Given the description of an element on the screen output the (x, y) to click on. 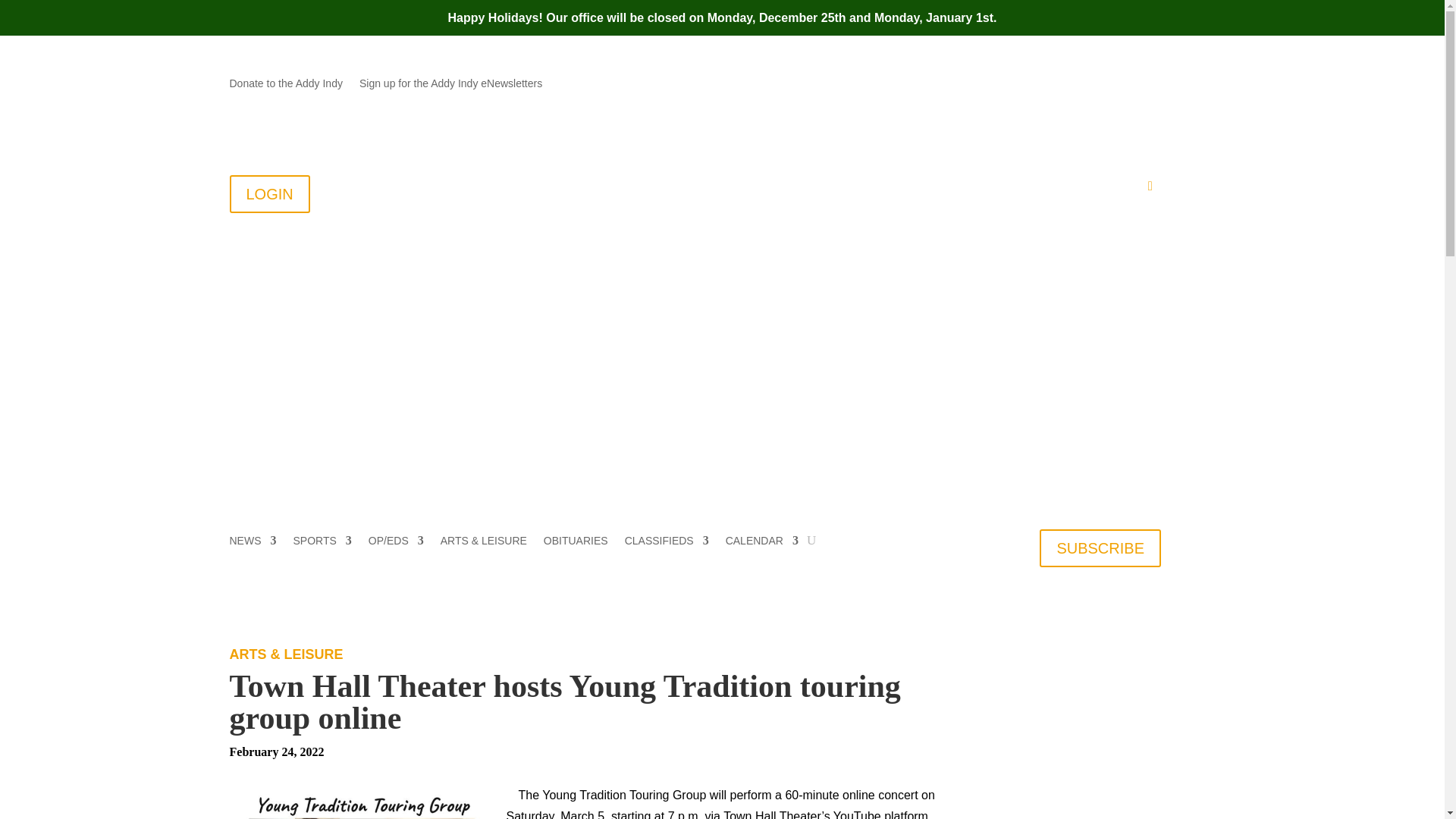
Donate to the Addy Indy (285, 86)
PDF Editions (1029, 189)
3rd party ad content (722, 422)
Sign up for the Addy Indy eNewsletters (450, 86)
Follow on Mail (1057, 84)
Follow on Instagram (1148, 84)
addison-logo (418, 276)
LOGIN (268, 193)
Submissions (860, 189)
Advertise (944, 189)
Follow on Facebook (1087, 84)
Join the Addy All-Stars! (751, 189)
Follow on X (1118, 84)
3rd party ad content (1100, 733)
My Account (1111, 189)
